Given the description of an element on the screen output the (x, y) to click on. 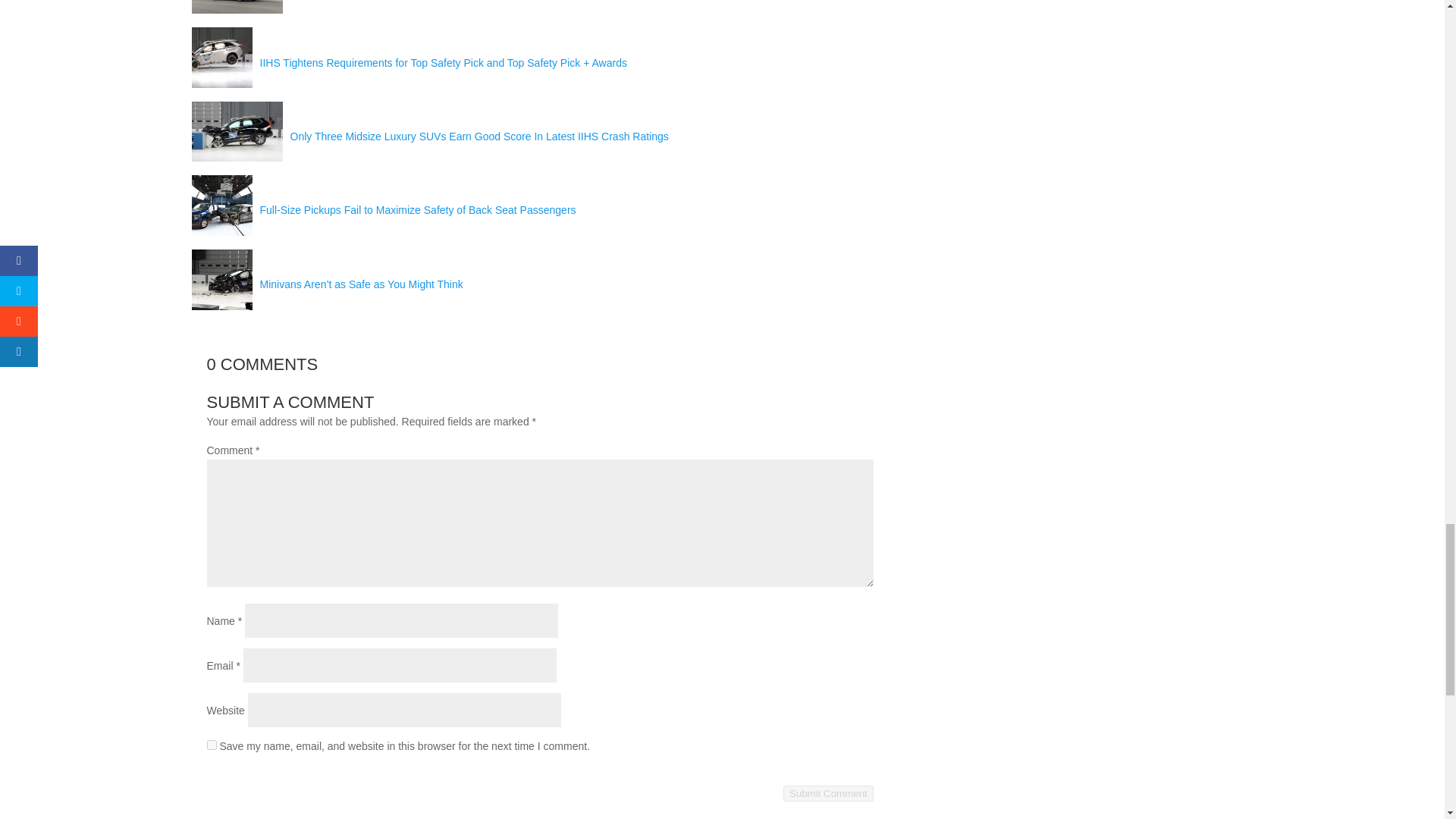
Submit Comment (828, 793)
yes (210, 745)
